Given the description of an element on the screen output the (x, y) to click on. 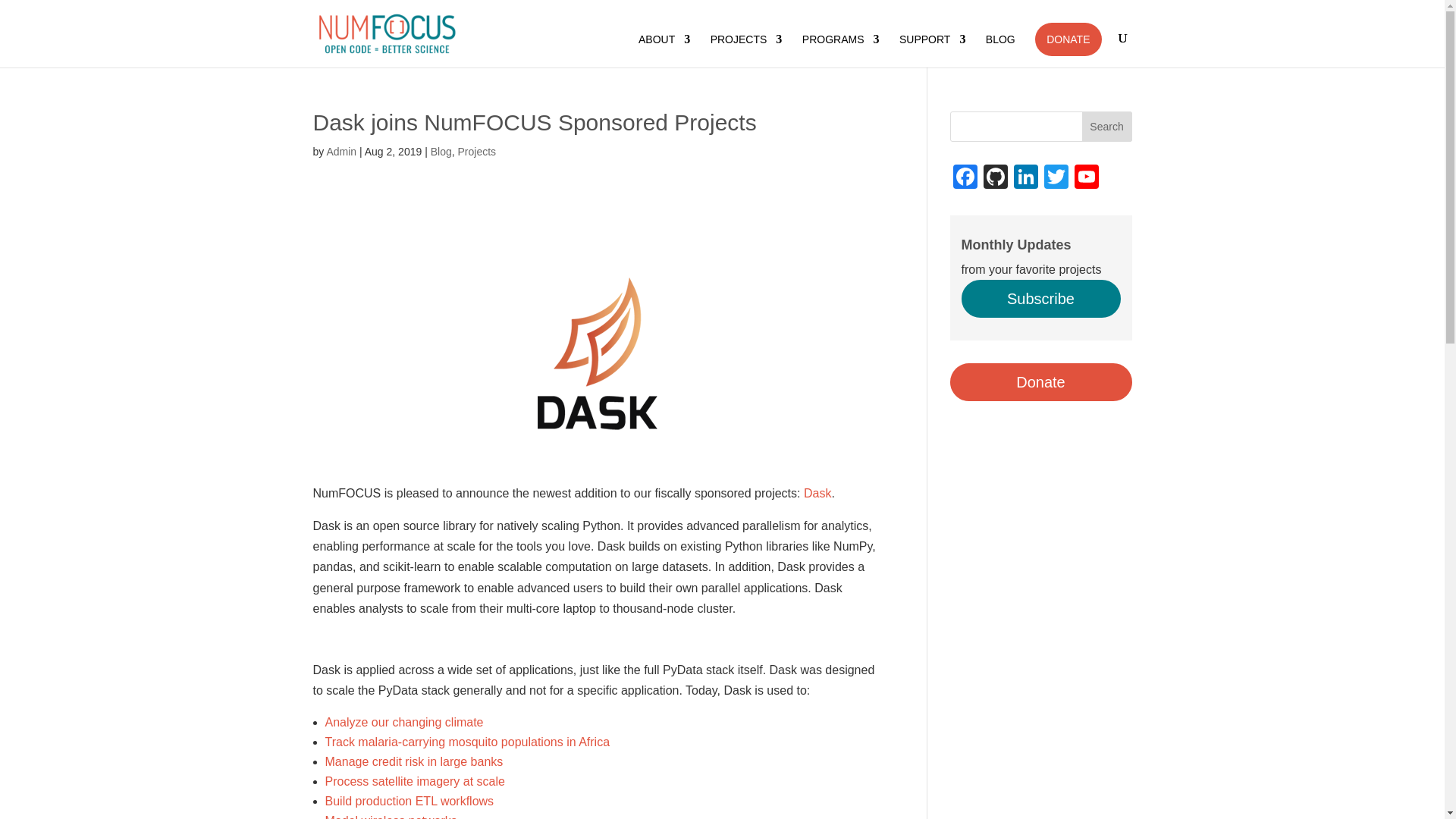
ABOUT (664, 50)
GitHub (994, 178)
YouTube (1085, 178)
PROGRAMS (840, 50)
DONATE (1067, 39)
Search (1106, 126)
PROJECTS (746, 50)
Posts by Admin (341, 151)
Twitter (1055, 178)
SUPPORT (932, 50)
